Given the description of an element on the screen output the (x, y) to click on. 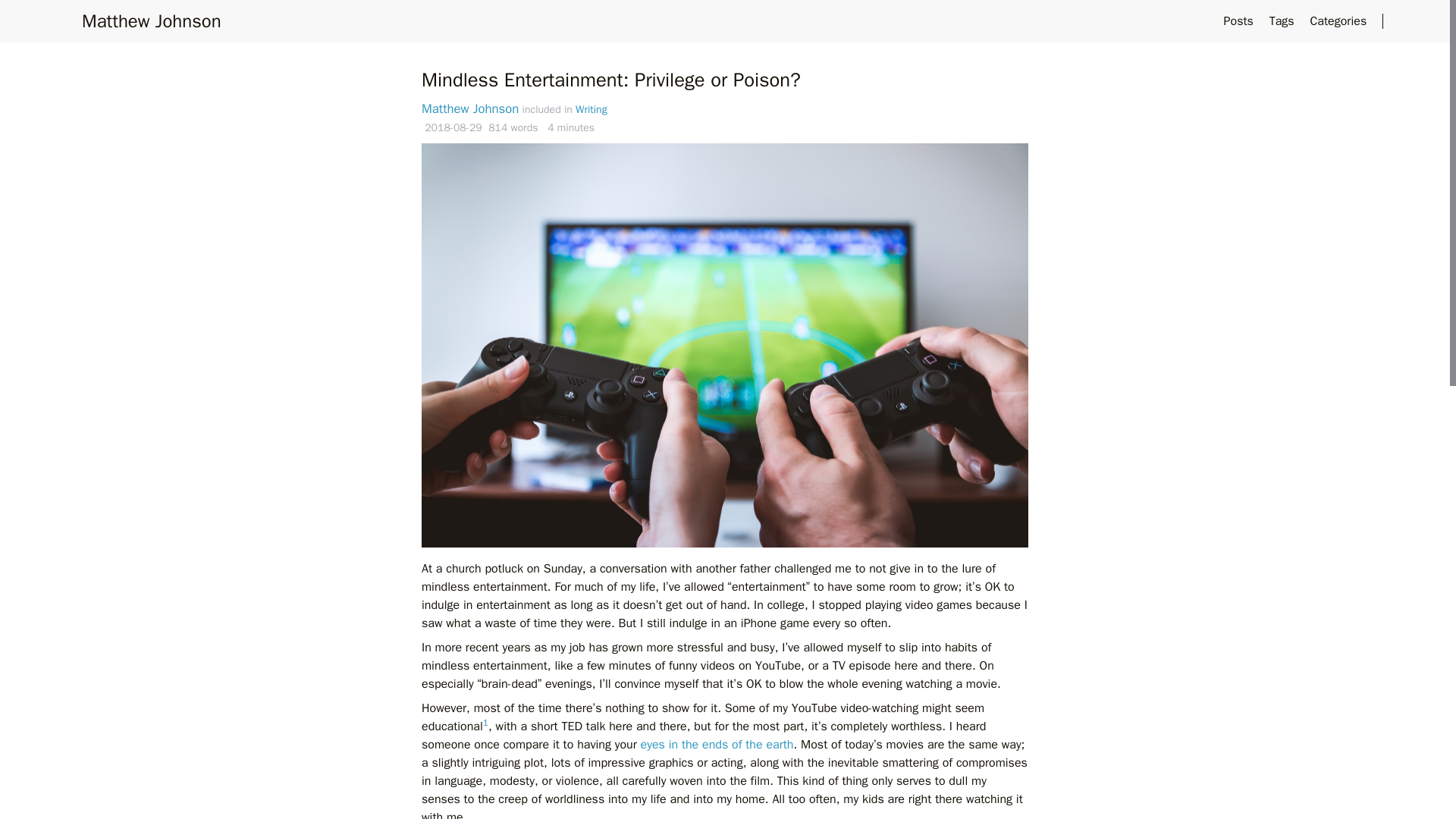
eyes in the ends of the earth (716, 744)
Matthew Johnson (151, 20)
Author (470, 108)
Matthew Johnson (470, 108)
Writing (591, 109)
Matthew Johnson (151, 20)
Posts (1240, 20)
Categories (1339, 20)
Tags (1283, 20)
